Given the description of an element on the screen output the (x, y) to click on. 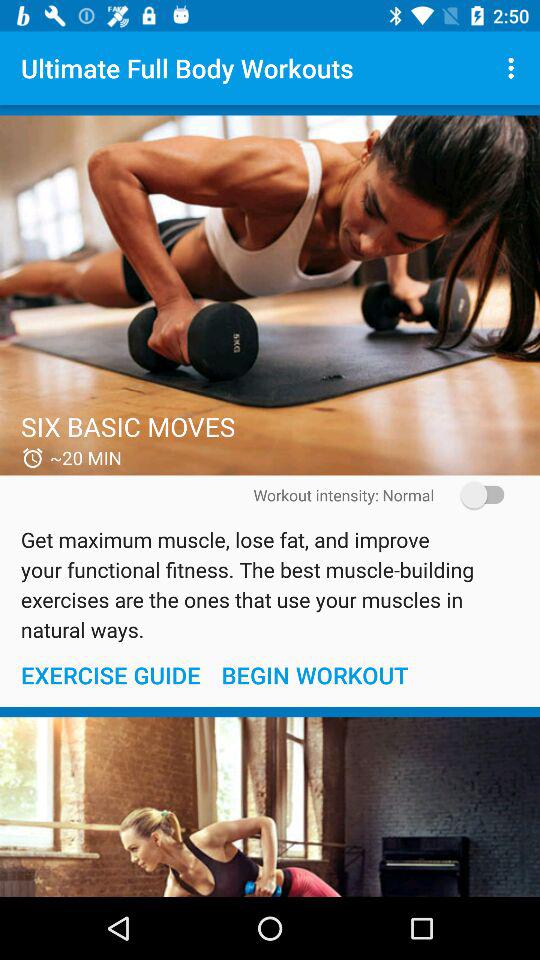
toggle the workout intensity (476, 494)
